Given the description of an element on the screen output the (x, y) to click on. 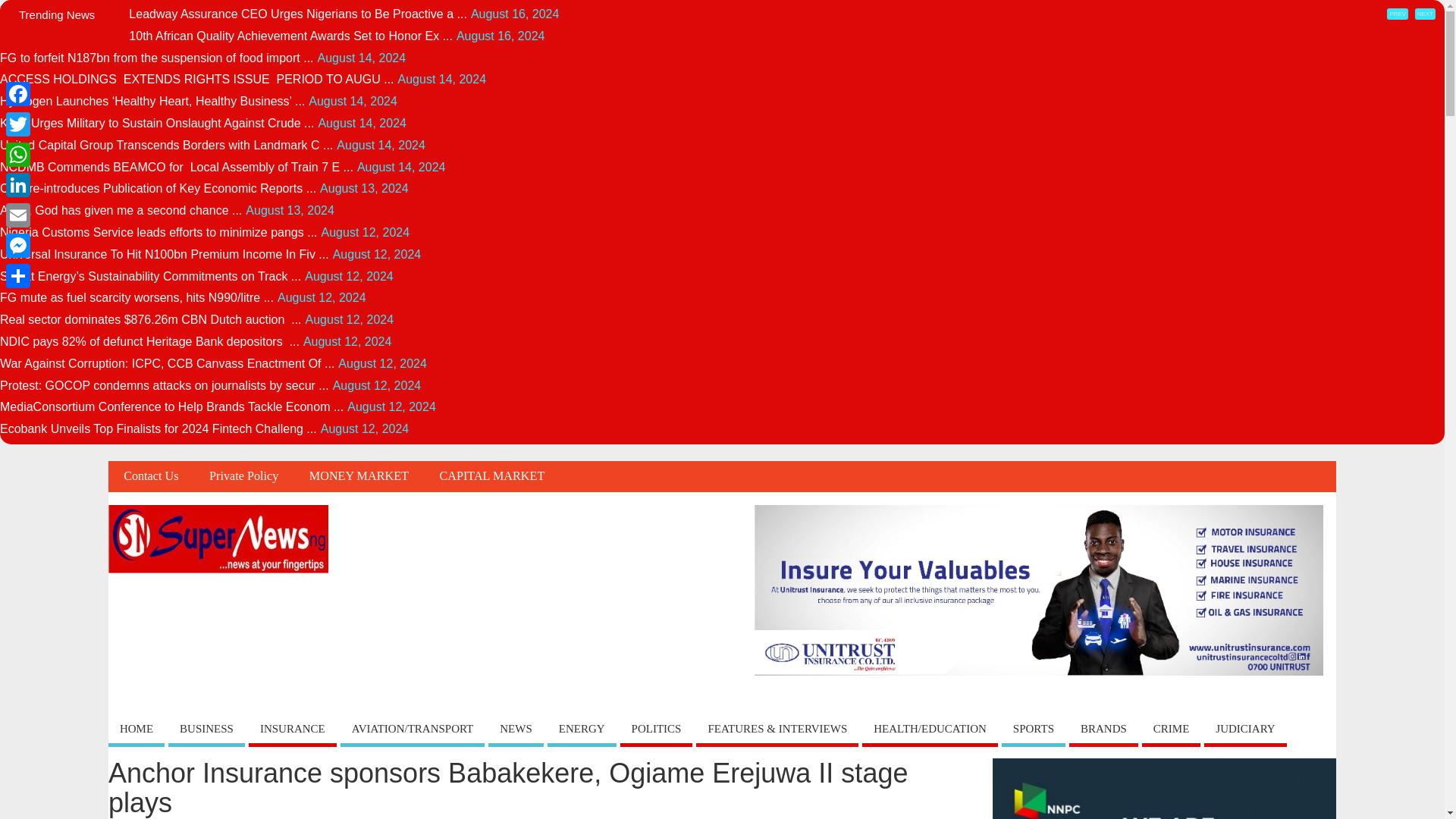
NCDMB Commends BEAMCO for  Local Assembly of Train 7 E ... (176, 166)
Leadway Assurance CEO Urges Nigerians to Be Proactive a ... (298, 13)
CAPITAL MARKET (491, 476)
United Capital Group Transcends Borders with Landmark C ... (166, 144)
CBN re-introduces Publication of Key Economic Reports ... (157, 187)
War Against Corruption: ICPC, CCB Canvass Enactment Of ... (167, 363)
ACCESS HOLDINGS  EXTENDS RIGHTS ISSUE  PERIOD TO AUGU ... (197, 78)
Ecobank Unveils Top Finalists for 2024 Fintech Challeng ... (158, 428)
Nigeria Customs Service leads efforts to minimize pangs ... (158, 232)
MONEY MARKET (359, 476)
